Given the description of an element on the screen output the (x, y) to click on. 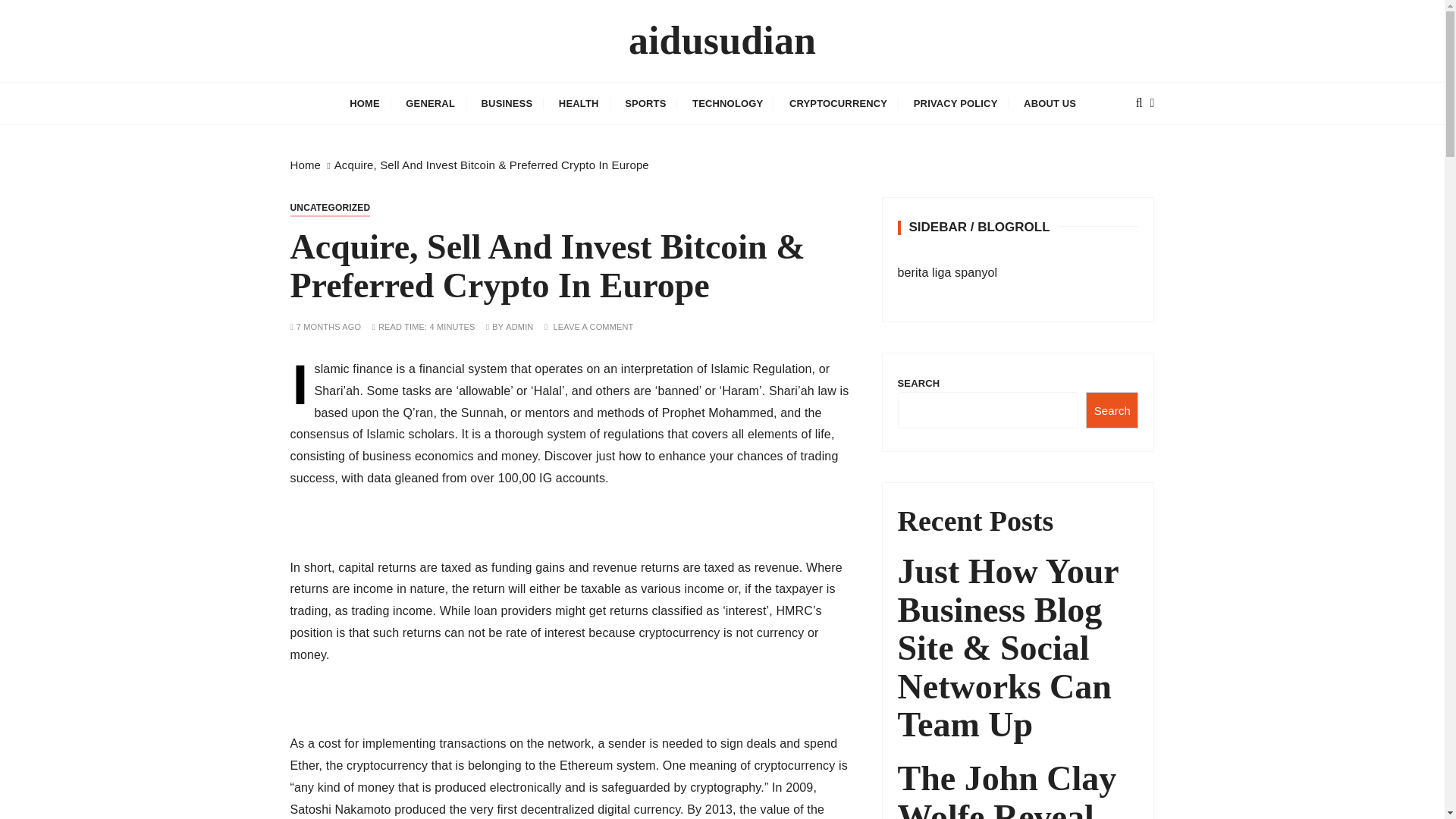
berita liga spanyol (947, 272)
HEALTH (578, 103)
SPORTS (644, 103)
berita liga spanyol (947, 272)
TECHNOLOGY (727, 103)
Search (1112, 410)
CRYPTOCURRENCY (837, 103)
The John Clay Wolfe Reveal John Clay Wolfe (1018, 789)
HOME (364, 103)
BUSINESS (507, 103)
